Given the description of an element on the screen output the (x, y) to click on. 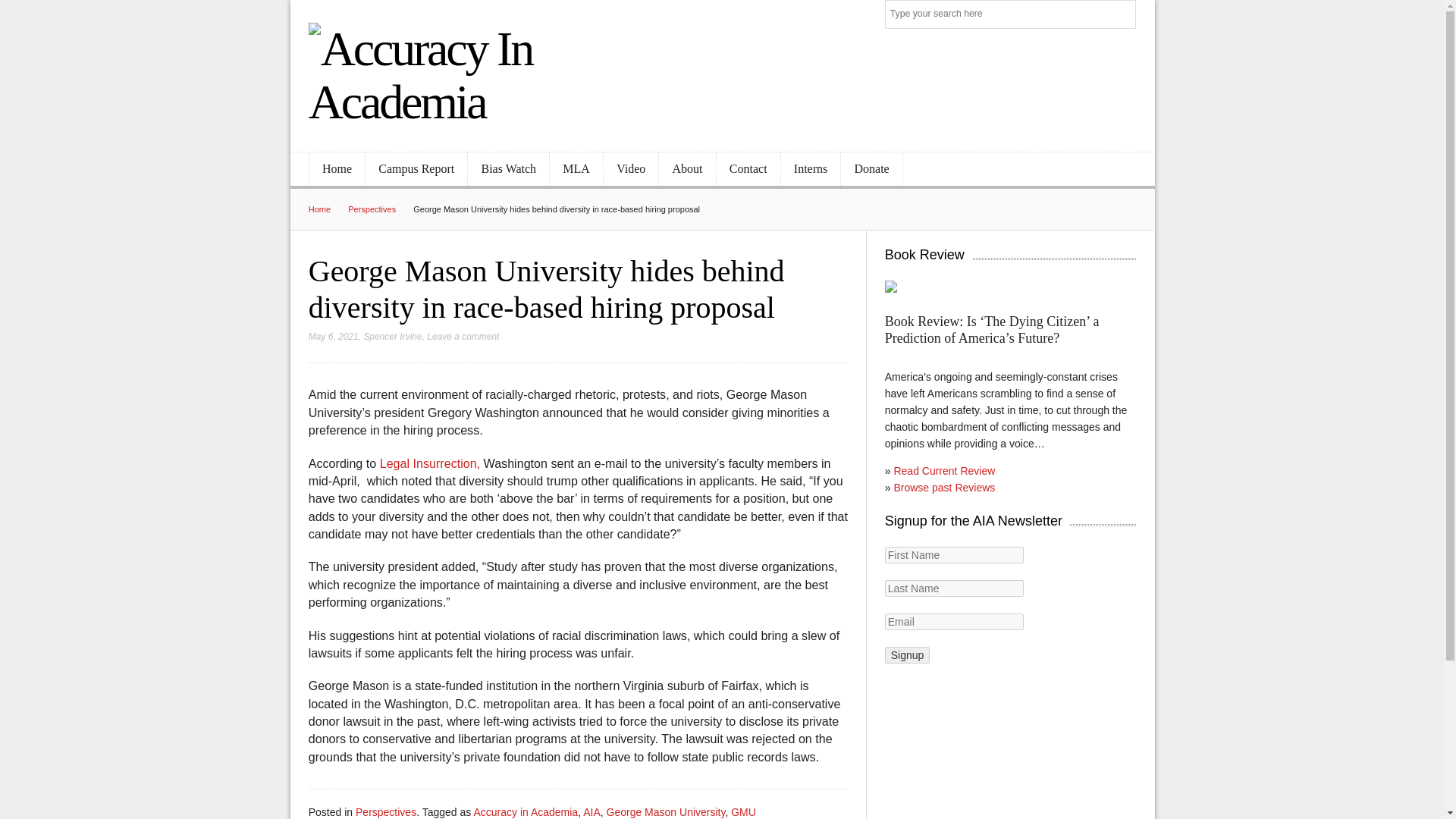
Home (327, 208)
AIA (591, 811)
George Mason University (666, 811)
Browse past Reviews (943, 487)
Read Current Review (943, 470)
Perspectives (380, 208)
Legal Insurrection, (430, 463)
Interns (810, 169)
Home (336, 169)
Bias Watch (507, 169)
Video (631, 169)
About (686, 169)
Perspectives (385, 811)
Donate (871, 169)
Accuracy in Academia (525, 811)
